Given the description of an element on the screen output the (x, y) to click on. 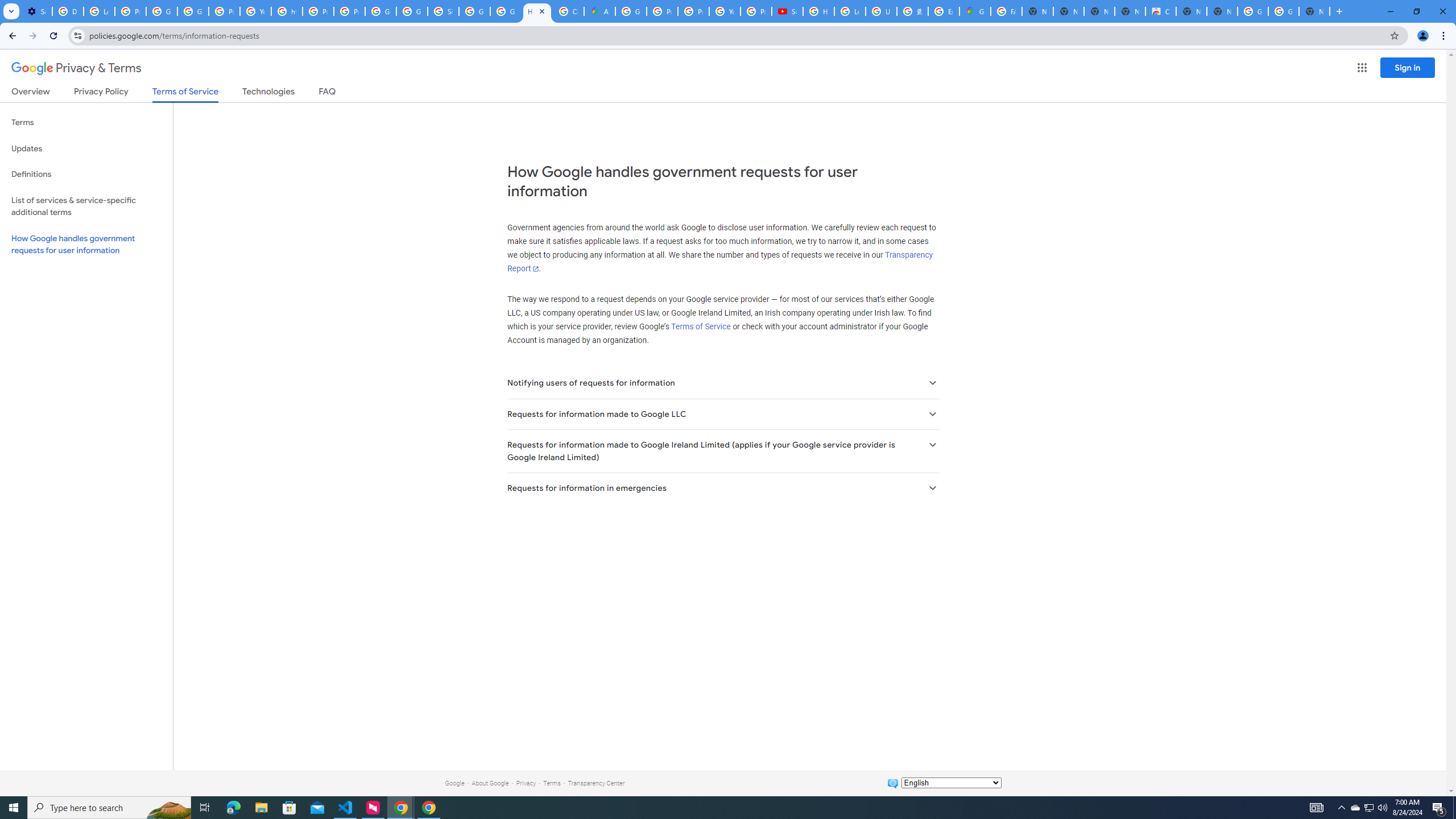
Requests for information made to Google LLC (722, 413)
Google Account Help (192, 11)
Privacy Help Center - Policies Help (693, 11)
Google Account Help (161, 11)
Google (454, 783)
Google Maps (974, 11)
Subscriptions - YouTube (787, 11)
How Chrome protects your passwords - Google Chrome Help (818, 11)
New Tab (1314, 11)
